Given the description of an element on the screen output the (x, y) to click on. 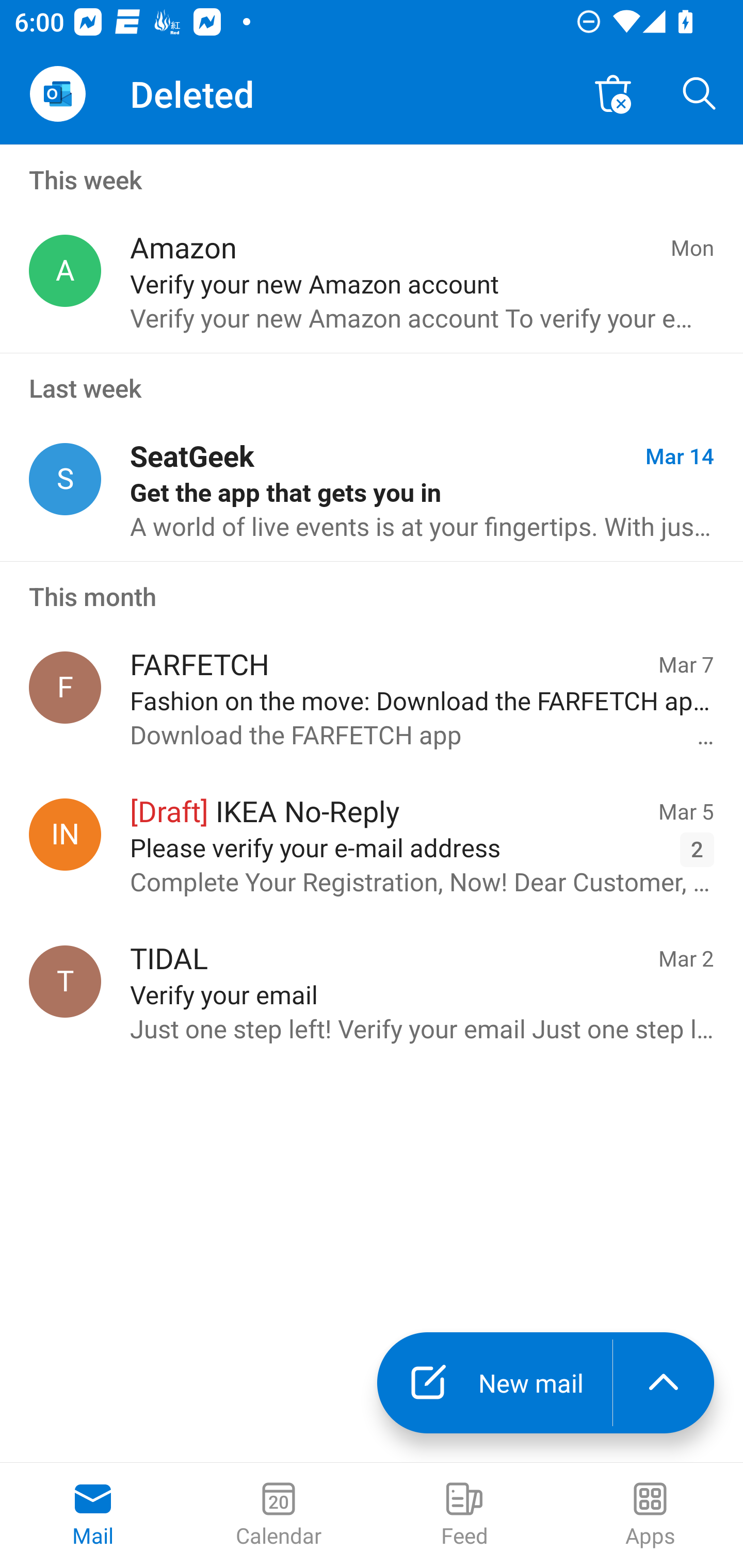
Empty Deleted (612, 93)
Search, ,  (699, 93)
Open Navigation Drawer (57, 94)
Amazon, account-update@amazon.com (64, 271)
SeatGeek, events@seatgeek.com (64, 479)
FARFETCH, farfetch@email.farfetch.com (64, 687)
IKEA No-Reply, noreply@ikea.com.hk (64, 834)
TIDAL, account@info.tidal.com (64, 981)
New mail (494, 1382)
launch the extended action menu (663, 1382)
Calendar (278, 1515)
Feed (464, 1515)
Apps (650, 1515)
